Given the description of an element on the screen output the (x, y) to click on. 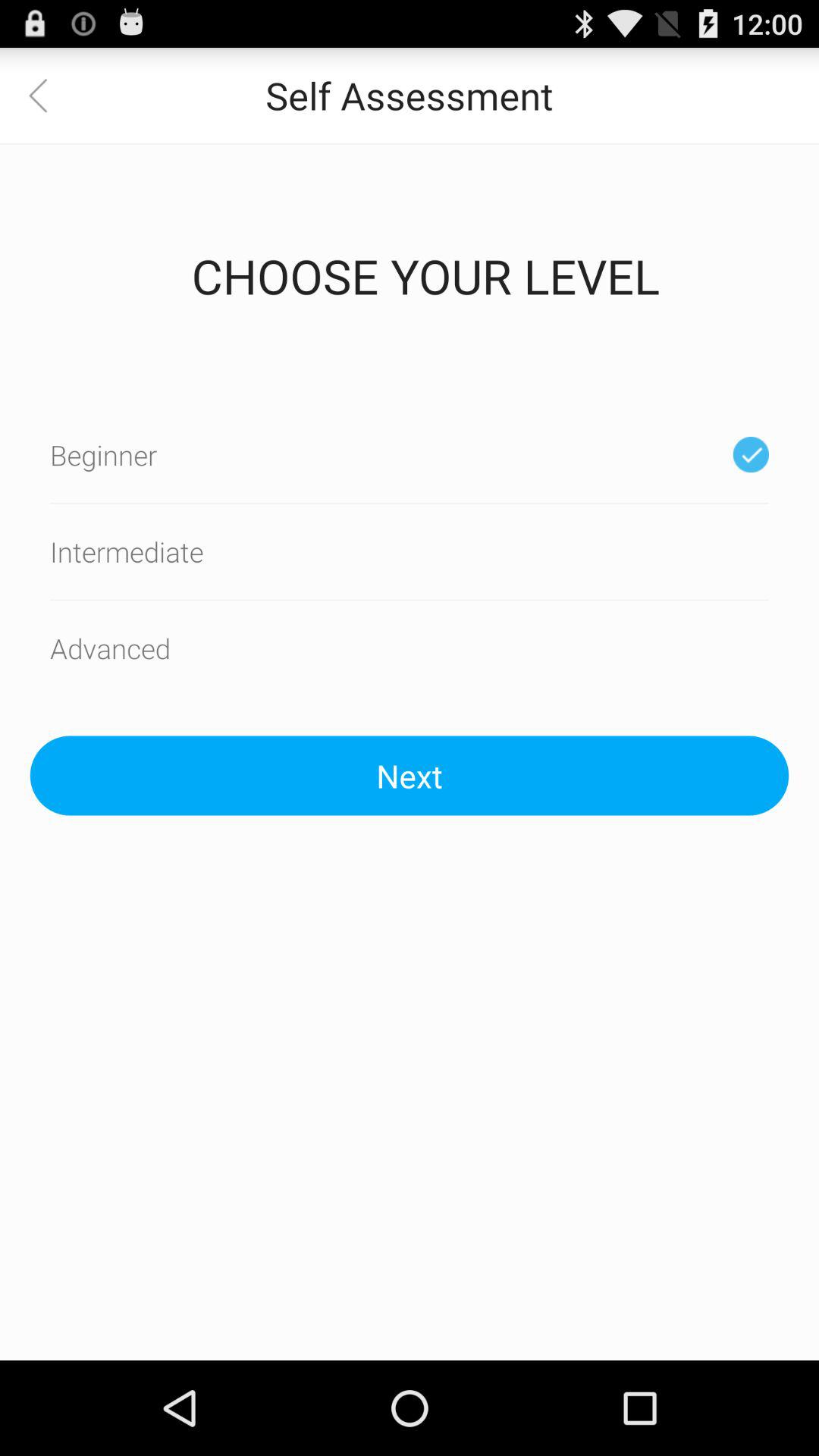
go back (47, 95)
